Given the description of an element on the screen output the (x, y) to click on. 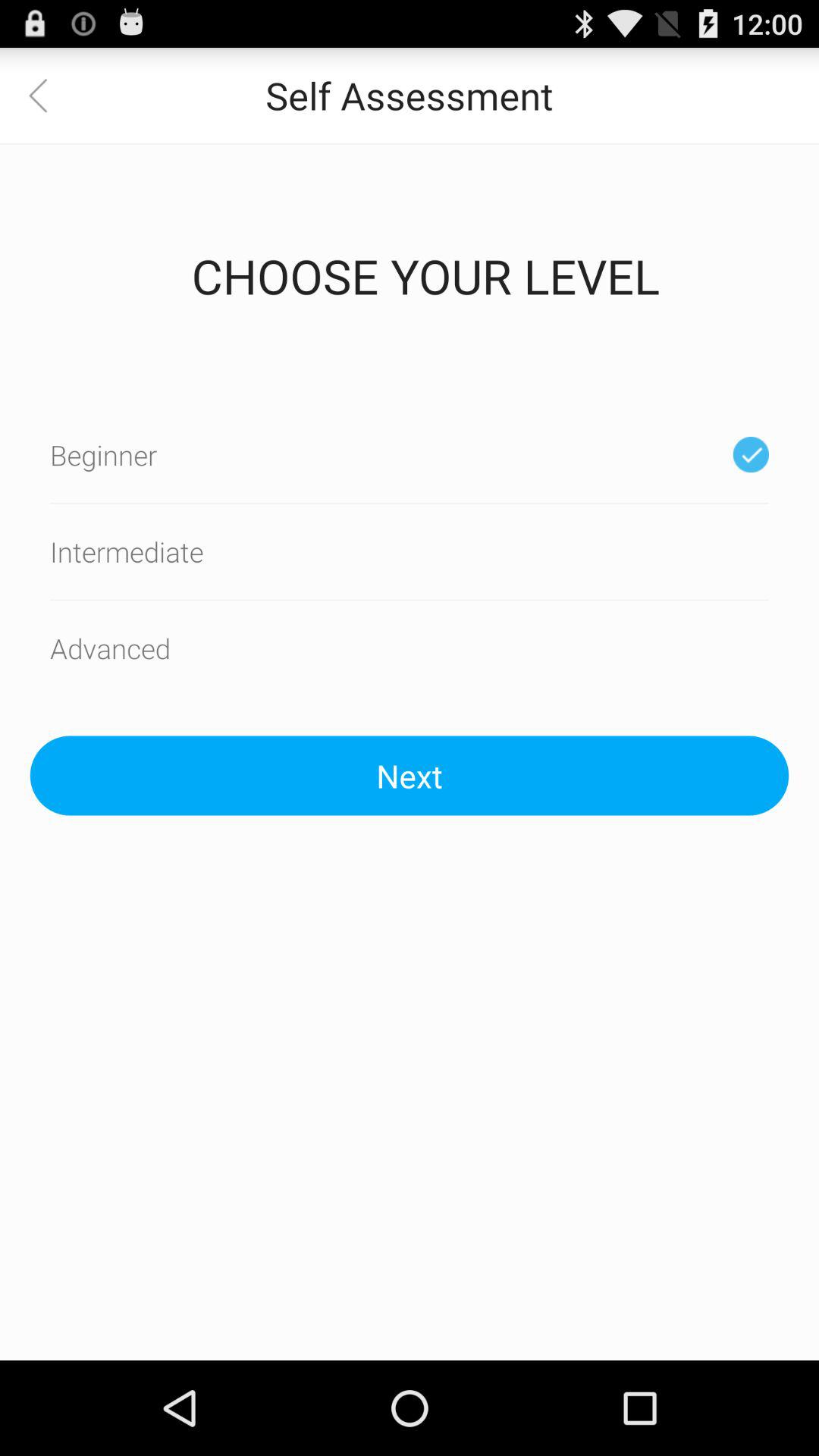
go back (47, 95)
